Given the description of an element on the screen output the (x, y) to click on. 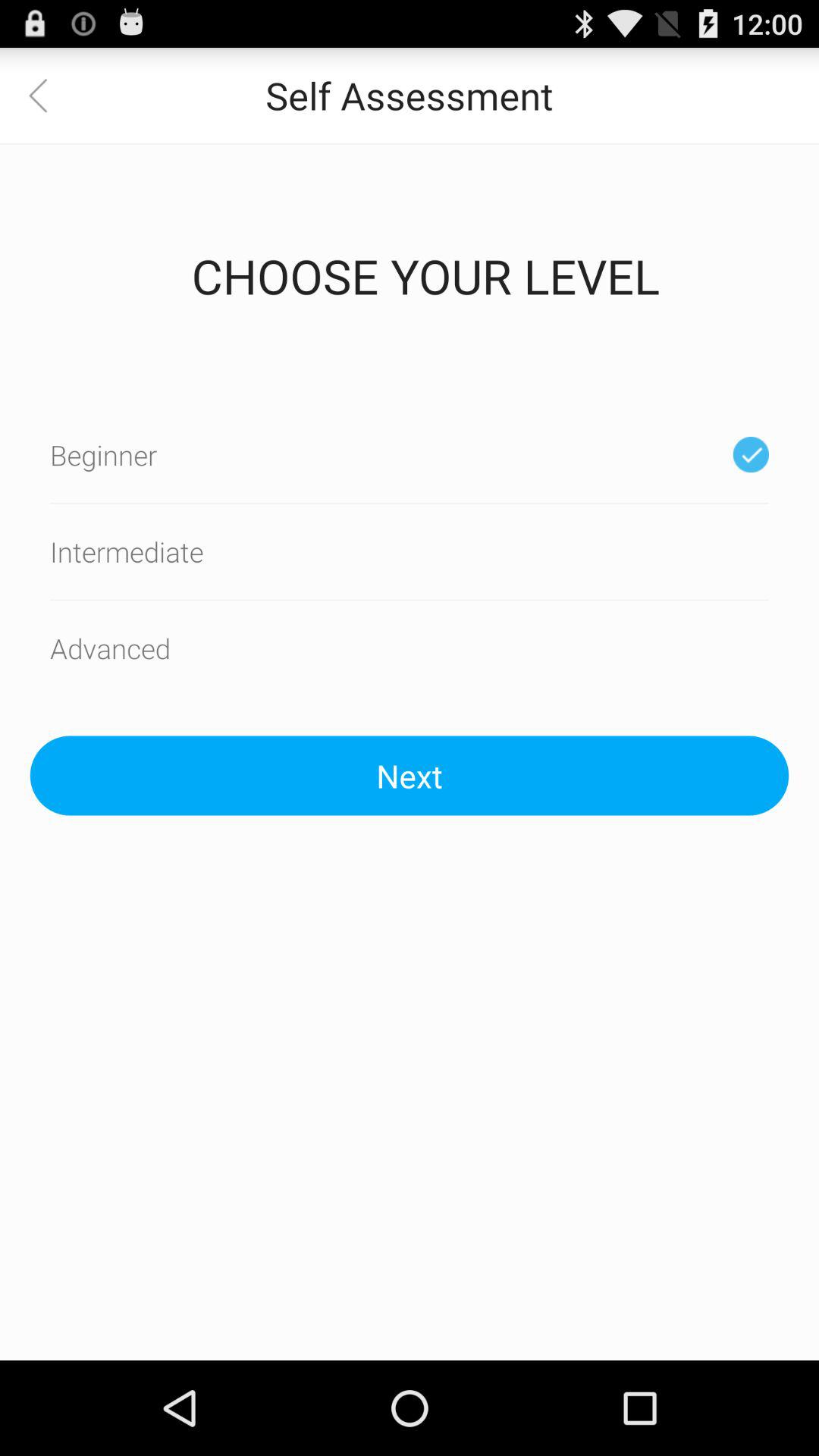
go back (47, 95)
